Given the description of an element on the screen output the (x, y) to click on. 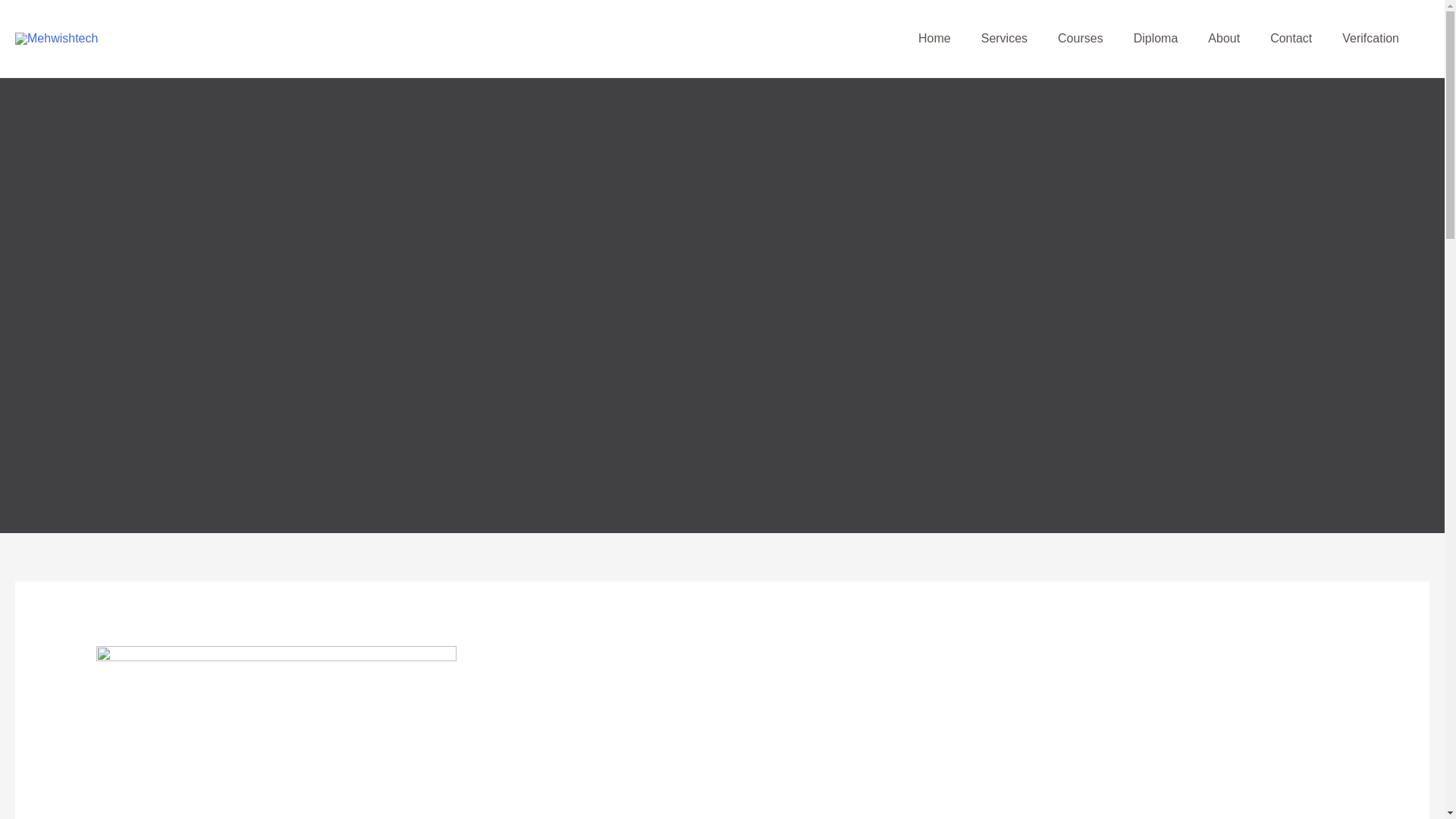
Verifcation (1369, 38)
Diploma (1155, 38)
Courses (1080, 38)
Home (934, 38)
Contact (1290, 38)
Services (1004, 38)
About (1223, 38)
